Given the description of an element on the screen output the (x, y) to click on. 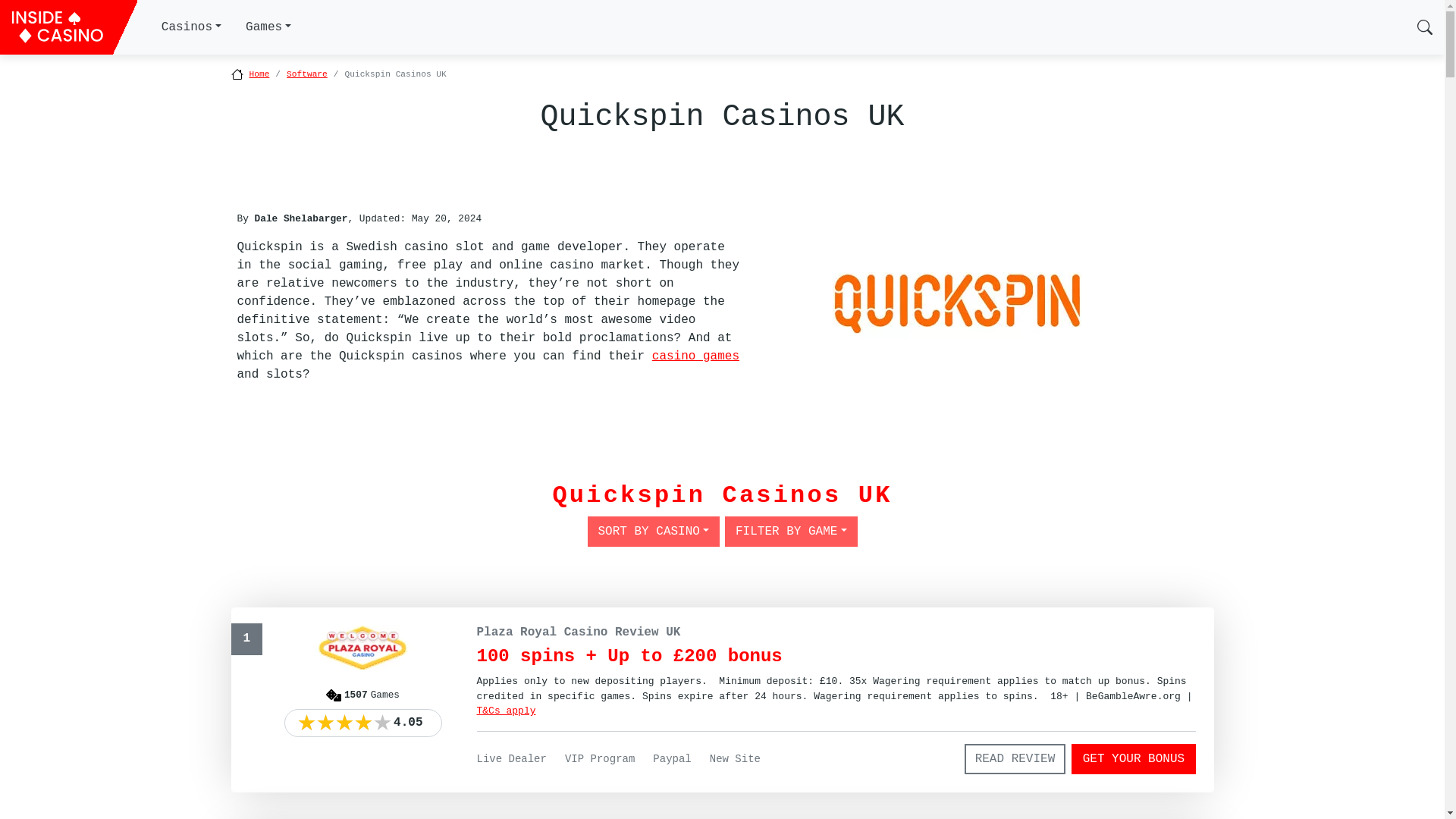
Casinos (190, 27)
Games (267, 27)
Plaza Royal (505, 710)
